Given the description of an element on the screen output the (x, y) to click on. 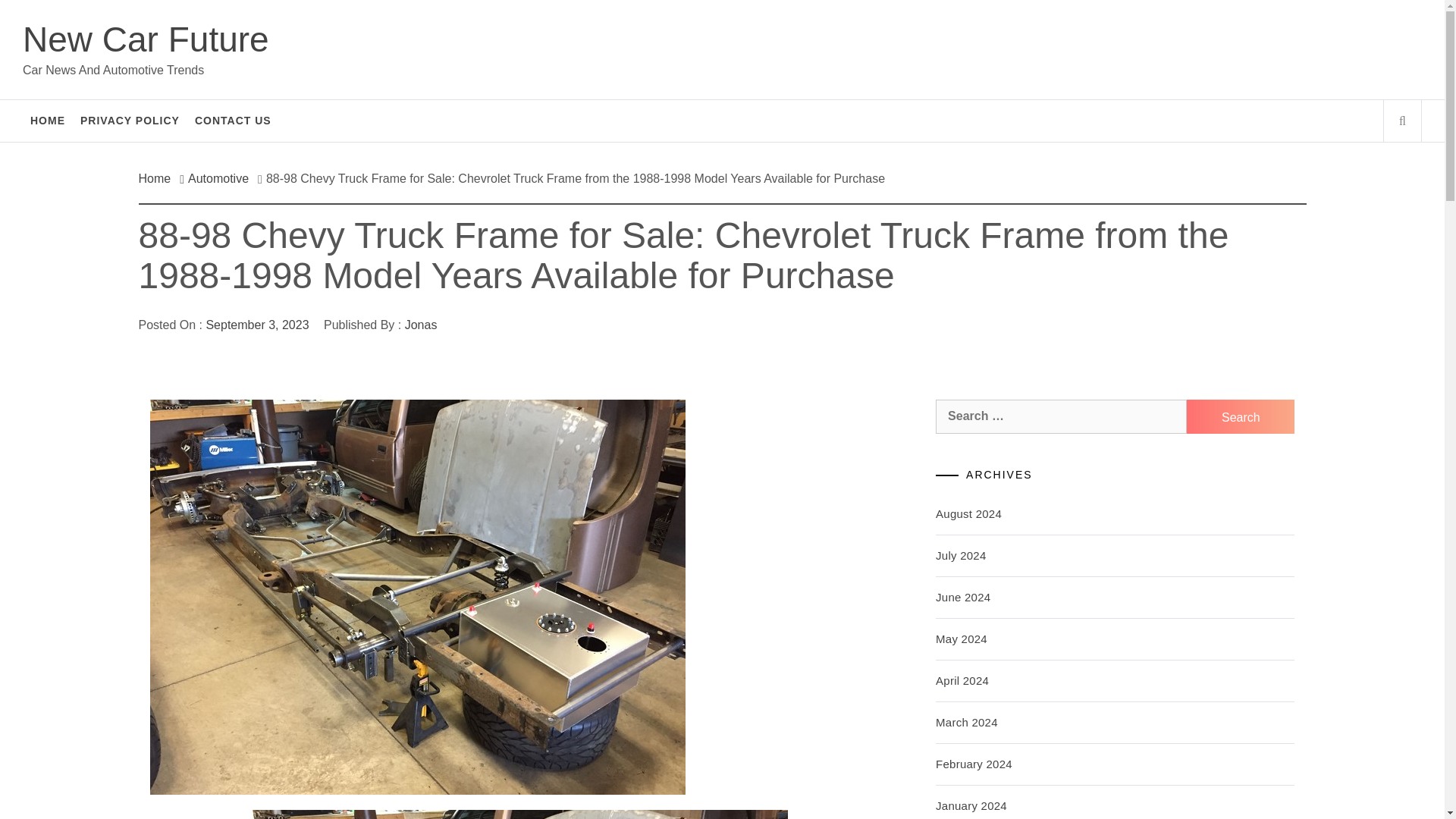
April 2024 (962, 680)
Search (797, 37)
January 2024 (971, 805)
Automotive (218, 178)
March 2024 (966, 721)
August 2024 (968, 513)
June 2024 (963, 596)
Search (1240, 416)
PRIVACY POLICY (129, 120)
July 2024 (960, 554)
